Given the description of an element on the screen output the (x, y) to click on. 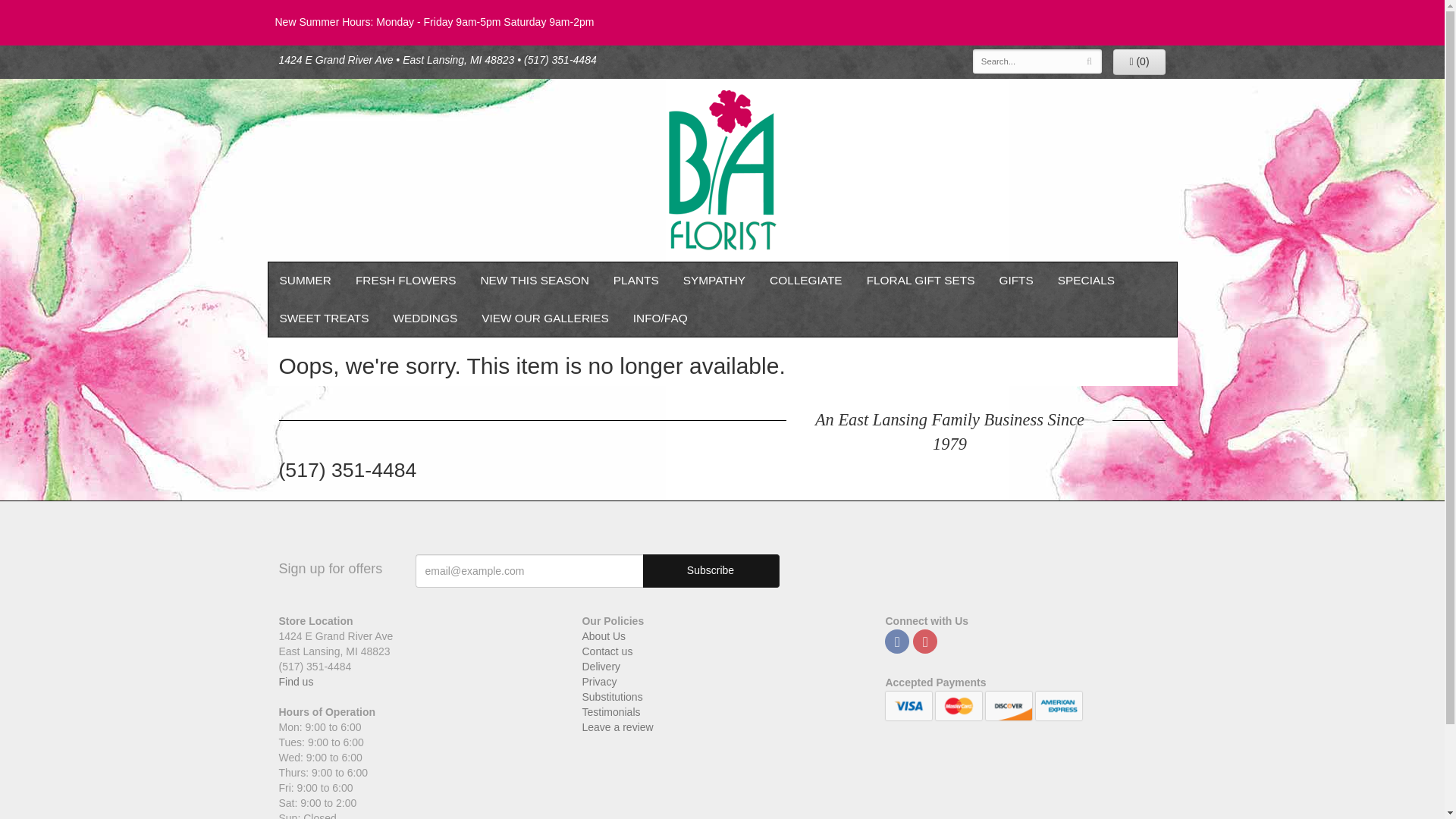
FLORAL GIFT SETS (920, 280)
SPECIALS (1085, 280)
NEW THIS SEASON (533, 280)
SUMMER (304, 280)
Subscribe (710, 571)
SYMPATHY (714, 280)
PLANTS (636, 280)
WEDDINGS (425, 318)
COLLEGIATE (805, 280)
SWEET TREATS (323, 318)
VIEW OUR GALLERIES (544, 318)
FRESH FLOWERS (405, 280)
GIFTS (1016, 280)
